Given the description of an element on the screen output the (x, y) to click on. 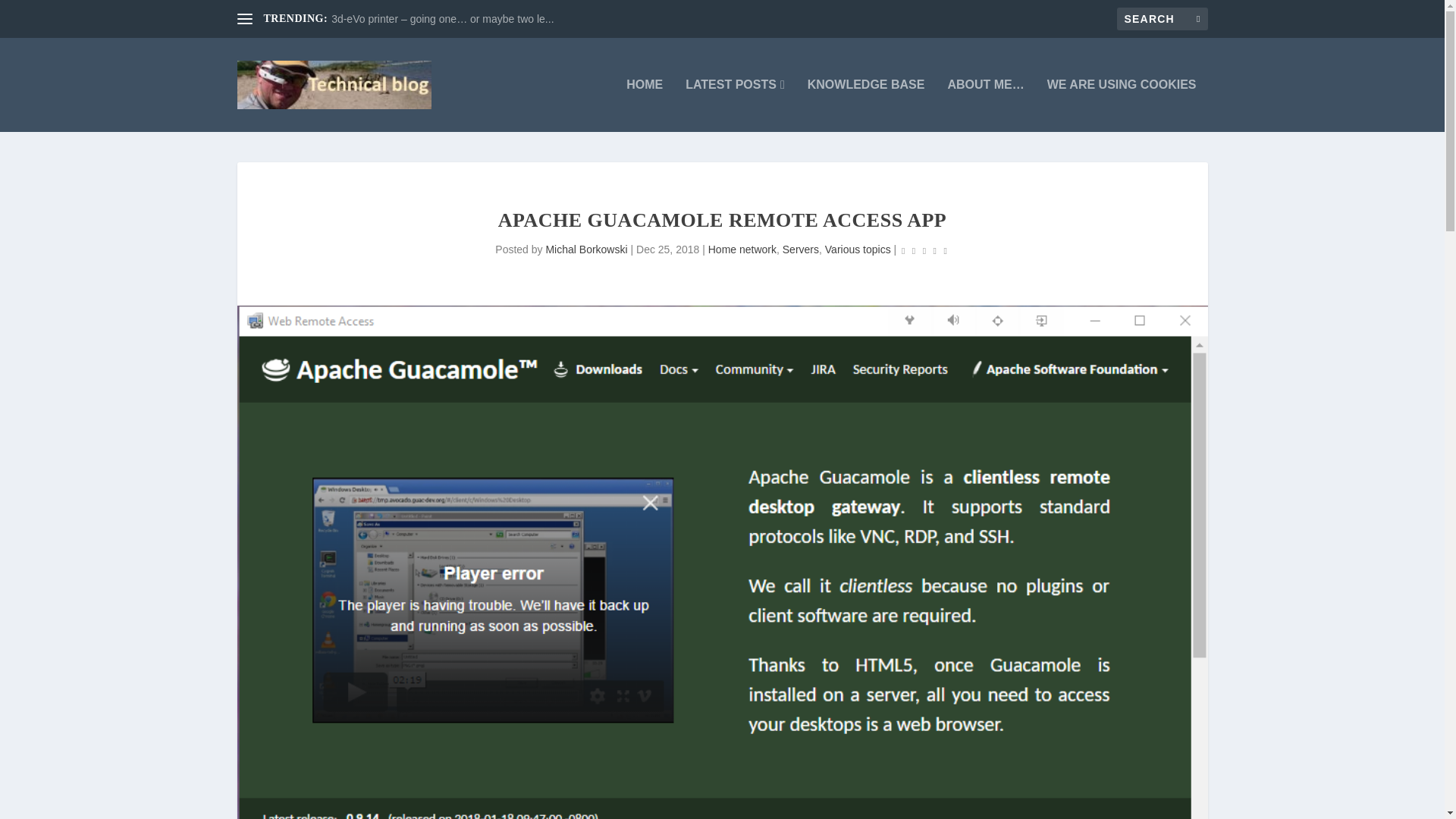
KNOWLEDGE BASE (866, 104)
Posts by Michal Borkowski (585, 249)
Search for: (1161, 18)
LATEST POSTS (734, 104)
Home network (741, 249)
WE ARE USING COOKIES (1121, 104)
Michal Borkowski (585, 249)
Rating: 0.00 (924, 250)
Various topics (858, 249)
Servers (800, 249)
